Given the description of an element on the screen output the (x, y) to click on. 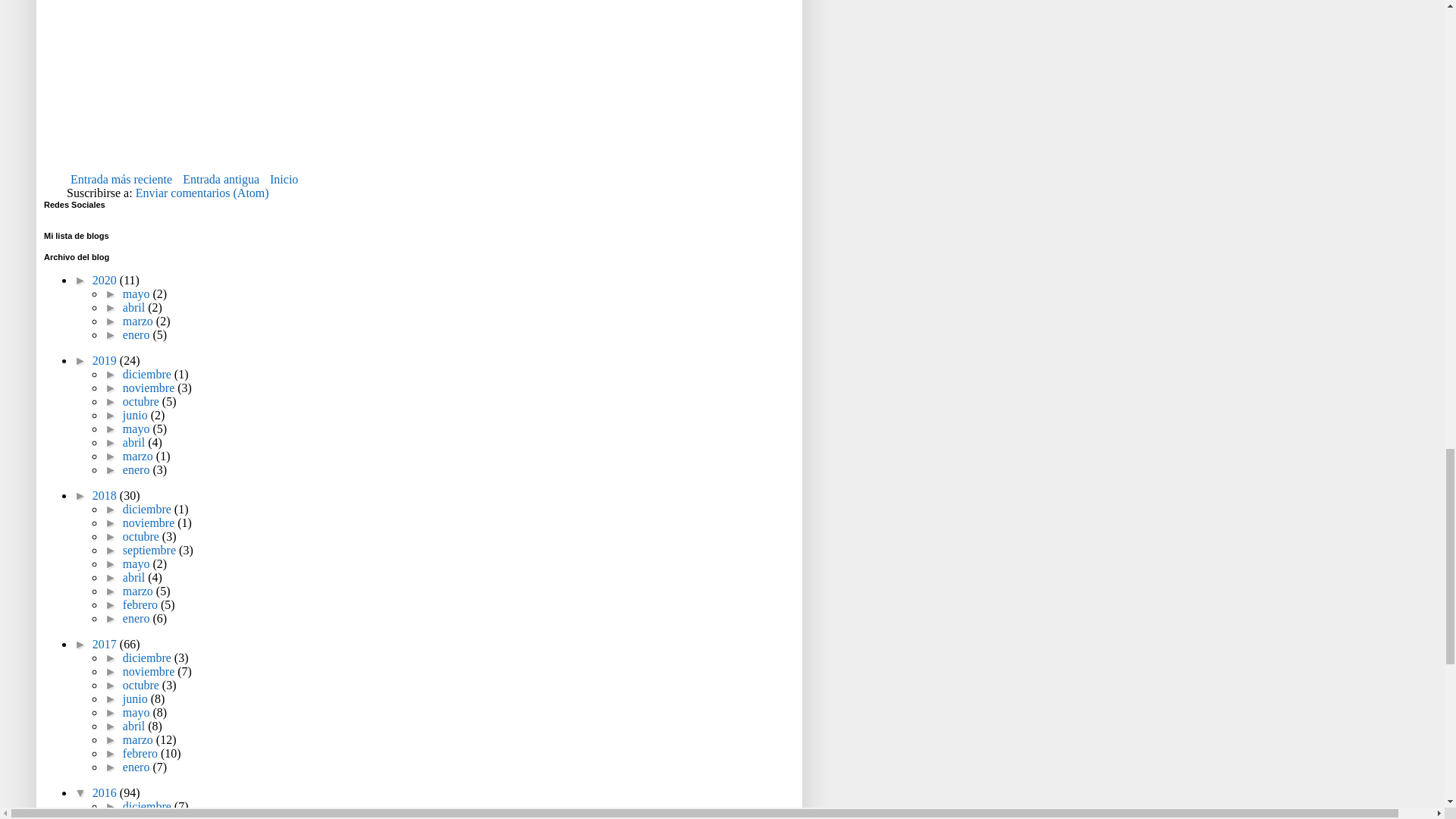
Inicio (283, 178)
Entrada antigua (221, 178)
2020 (106, 279)
Entrada antigua (221, 178)
abril (135, 307)
mayo (137, 293)
